Given the description of an element on the screen output the (x, y) to click on. 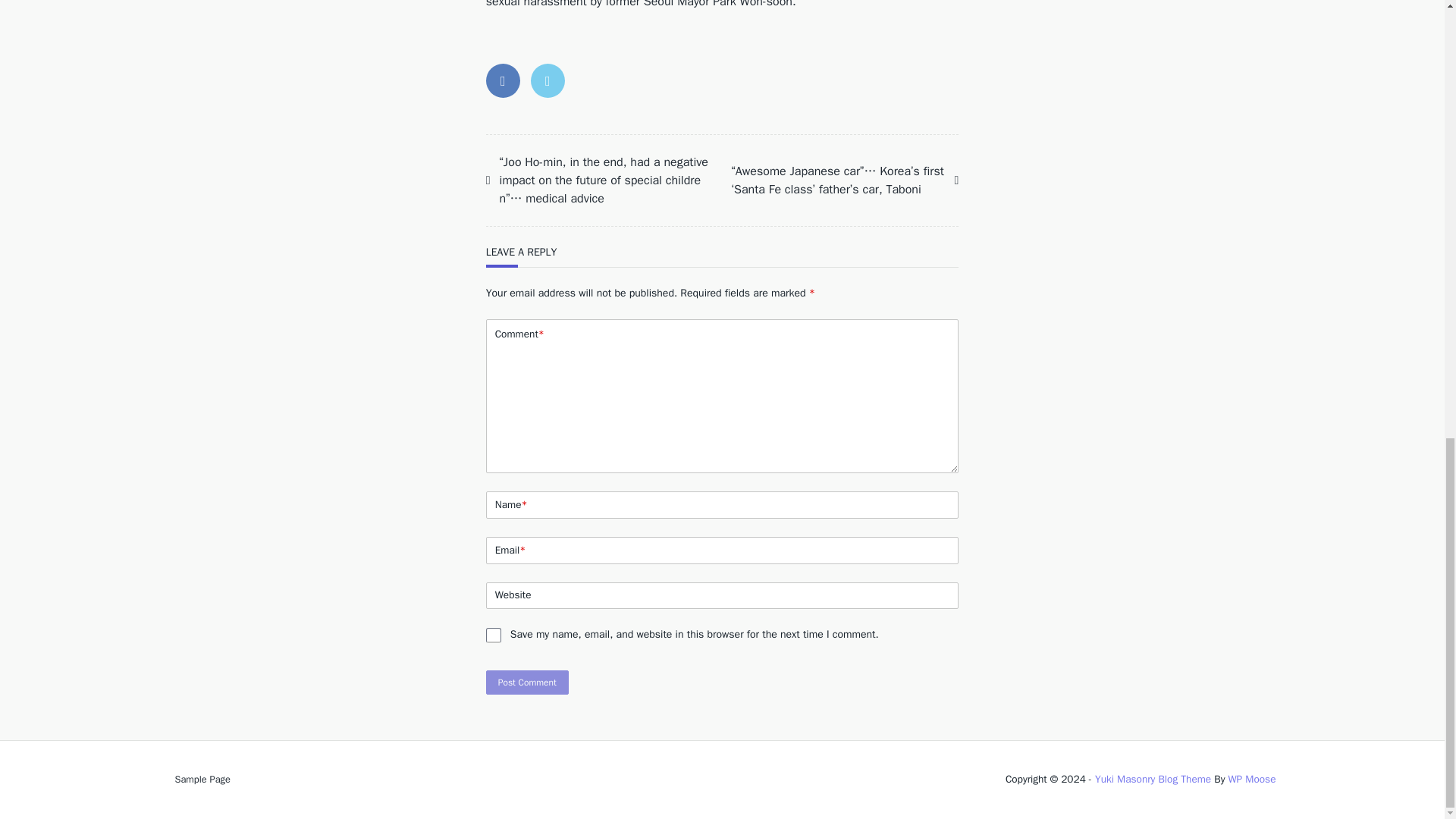
Yuki Masonry Blog Theme (1152, 779)
Sample Page (201, 778)
Post Comment (527, 682)
yes (493, 635)
Post Comment (527, 682)
WP Moose (1251, 779)
